Given the description of an element on the screen output the (x, y) to click on. 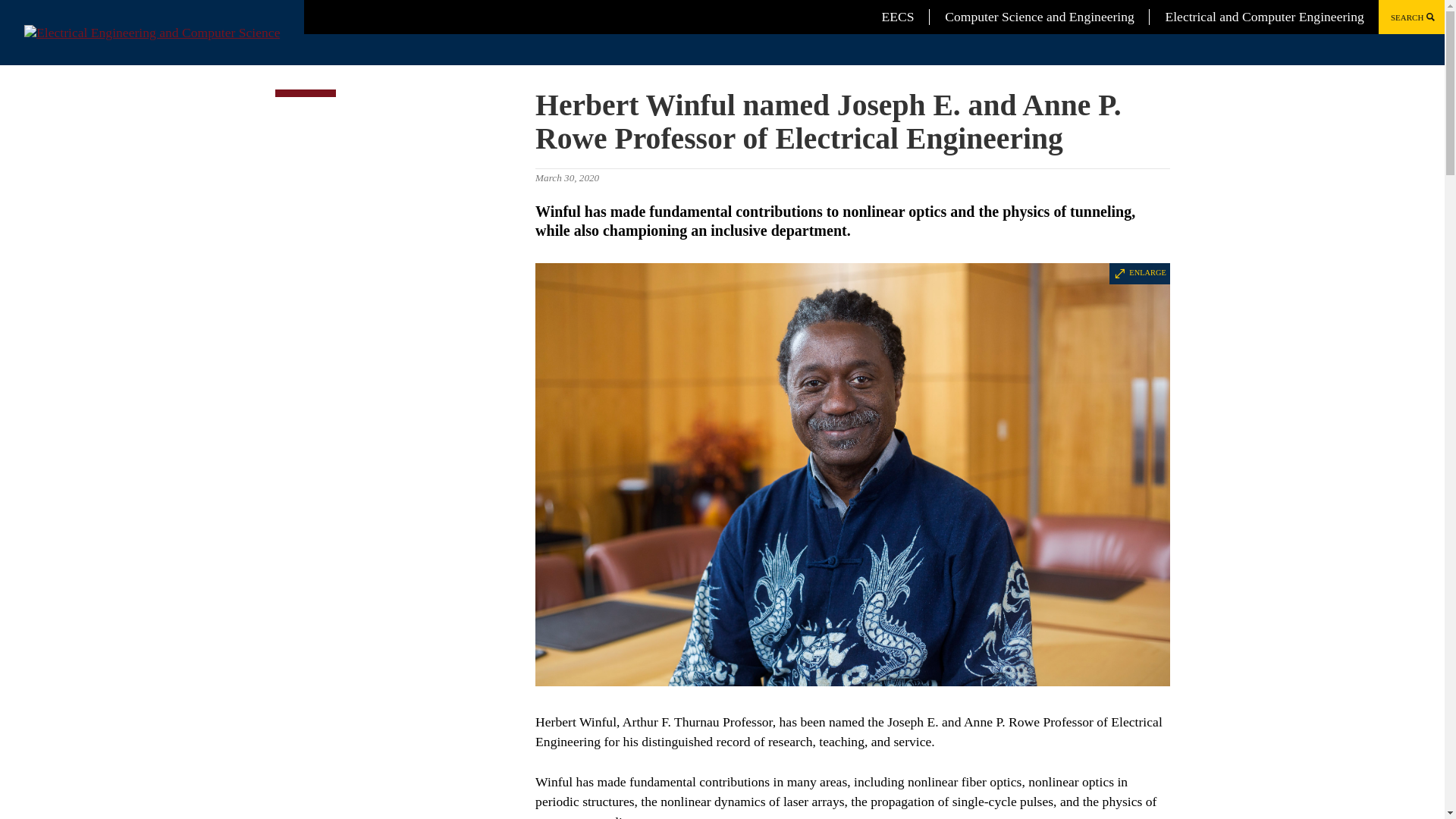
Computer Science and Engineering (1039, 16)
EECS (898, 16)
Electrical and Computer Engineering (1263, 16)
